Given the description of an element on the screen output the (x, y) to click on. 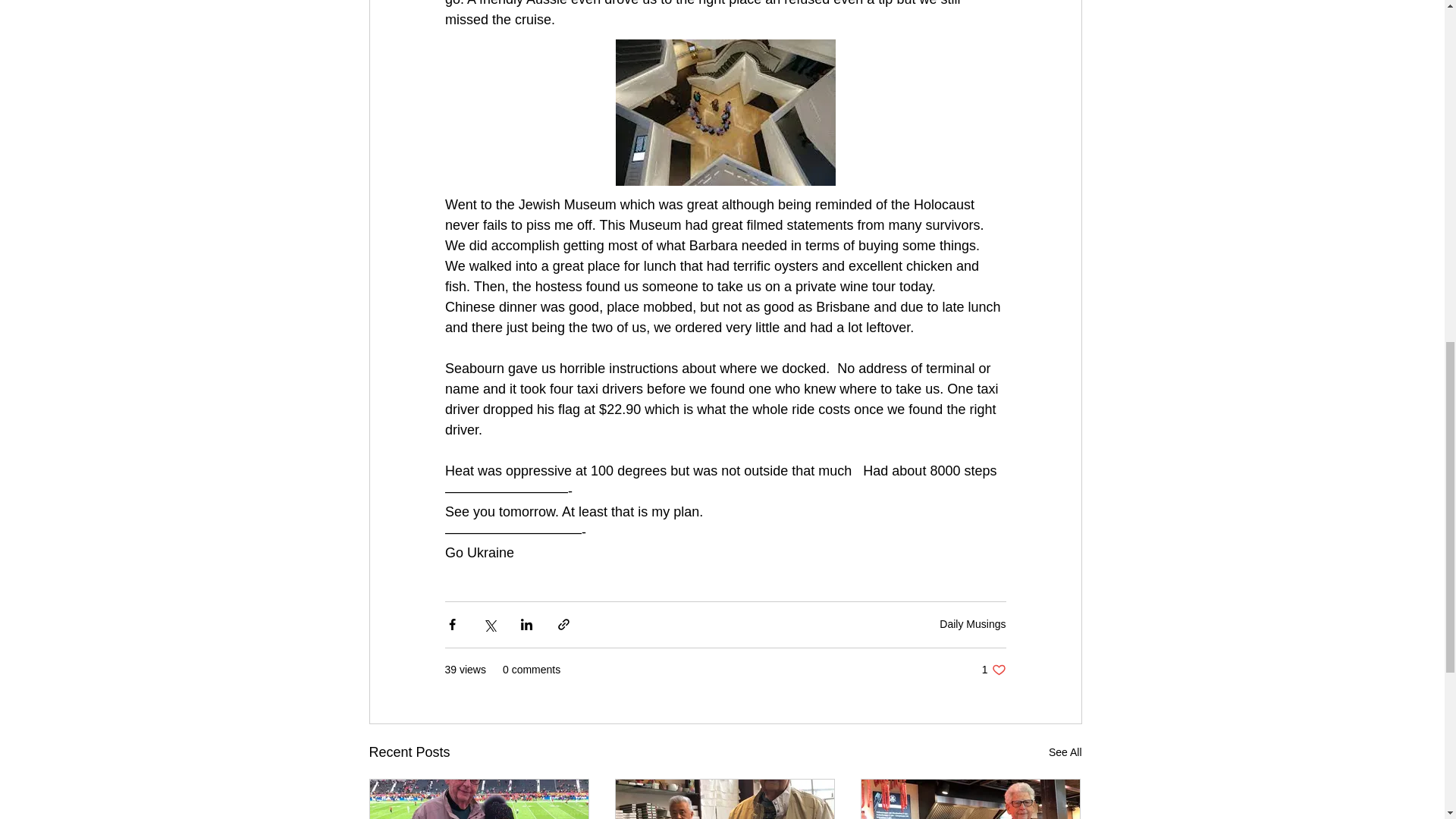
Daily Musings (972, 623)
See All (1064, 752)
